Given the description of an element on the screen output the (x, y) to click on. 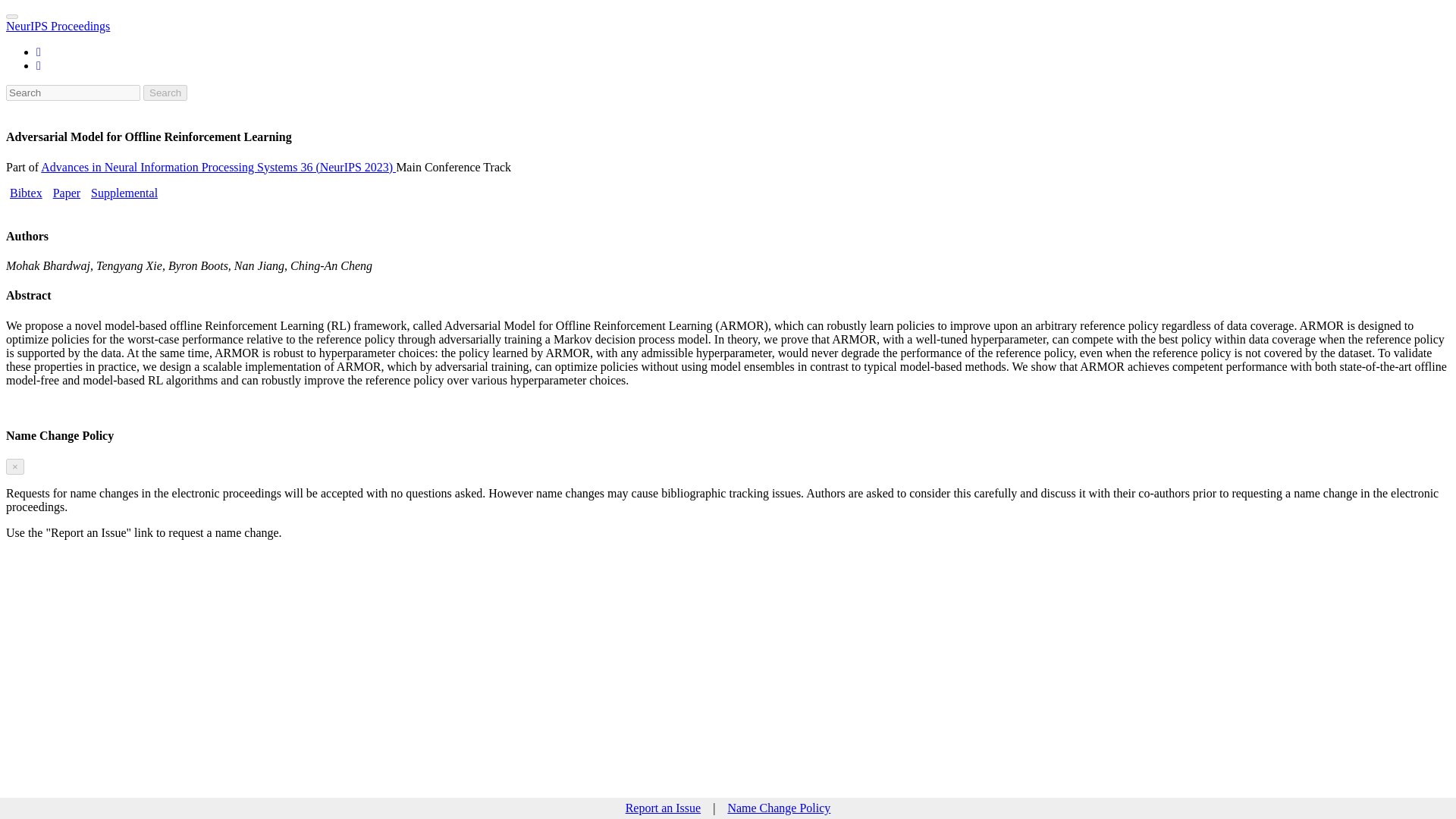
Bibtex (26, 192)
Search (164, 92)
Supplemental (123, 192)
Paper (66, 192)
NeurIPS Proceedings (57, 25)
